Given the description of an element on the screen output the (x, y) to click on. 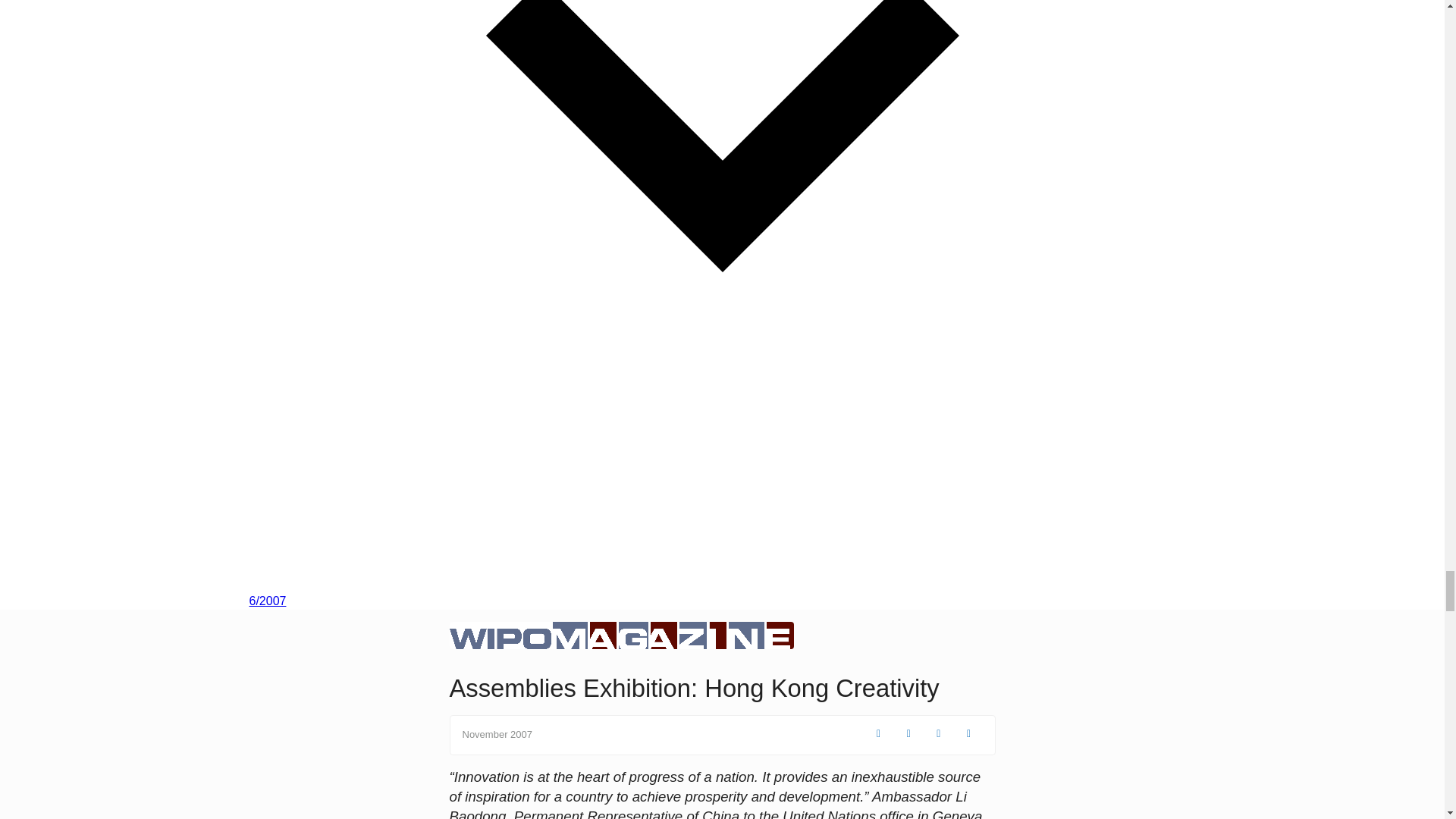
Share by Twitter (909, 733)
Share by Facebook (879, 733)
Share by E-Mail (968, 733)
Share by LinkedIn (939, 733)
